Given the description of an element on the screen output the (x, y) to click on. 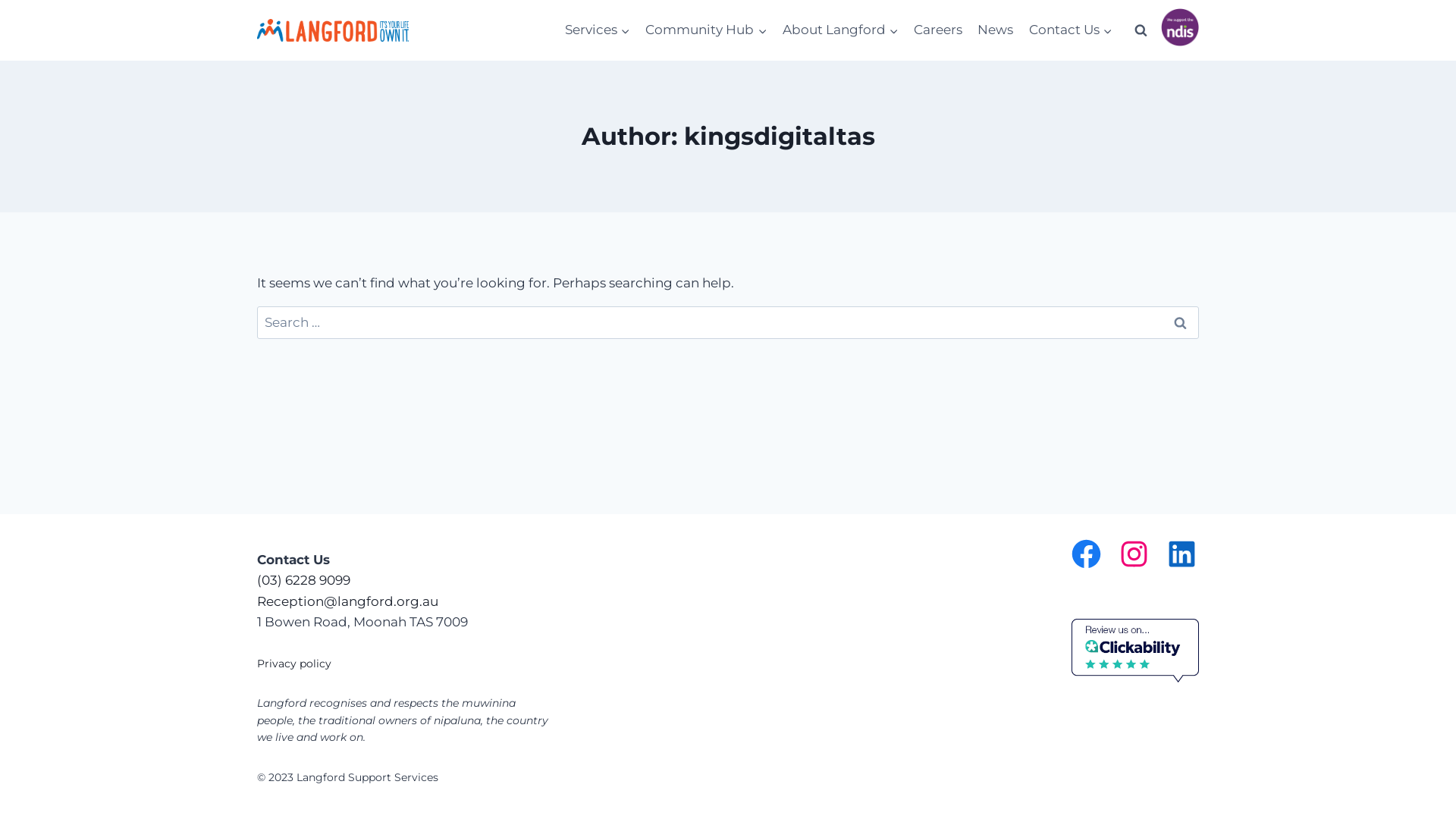
Services Element type: text (597, 30)
Contact Us Element type: text (1070, 30)
Search Element type: text (1179, 322)
Careers Element type: text (937, 30)
About Langford Element type: text (840, 30)
News Element type: text (994, 30)
Privacy policy Element type: text (294, 663)
Reception@langford.org.au Element type: text (347, 600)
Instagram Element type: text (1134, 553)
Facebook Element type: text (1086, 553)
Community Hub Element type: text (705, 30)
LinkedIn Element type: text (1181, 553)
(03) 6228 9099 Element type: text (303, 579)
